Given the description of an element on the screen output the (x, y) to click on. 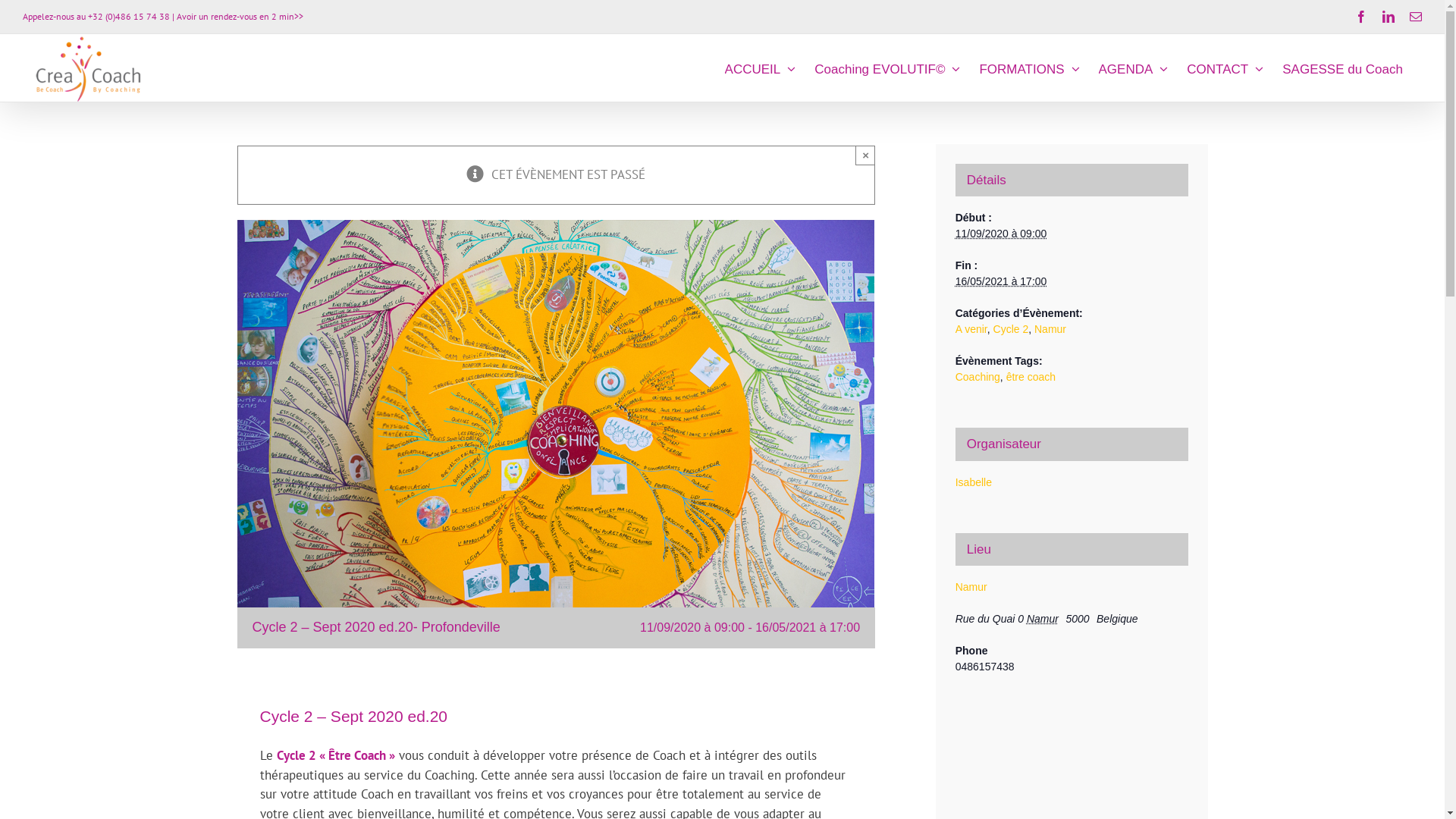
| Avoir un rendez-vous en 2 min>> Element type: text (237, 15)
Namur Element type: text (1050, 329)
SAGESSE du Coach Element type: text (1342, 67)
Namur Element type: text (971, 586)
LinkedIn Element type: text (1388, 16)
FORMATIONS Element type: text (1029, 67)
A venir Element type: text (971, 329)
ACCUEIL Element type: text (760, 67)
Isabelle Element type: text (973, 482)
AGENDA Element type: text (1133, 67)
Coaching Element type: text (977, 376)
CONTACT Element type: text (1224, 67)
Cycle 2 Element type: text (1011, 329)
Facebook Element type: text (1361, 16)
Email Element type: text (1415, 16)
